Given the description of an element on the screen output the (x, y) to click on. 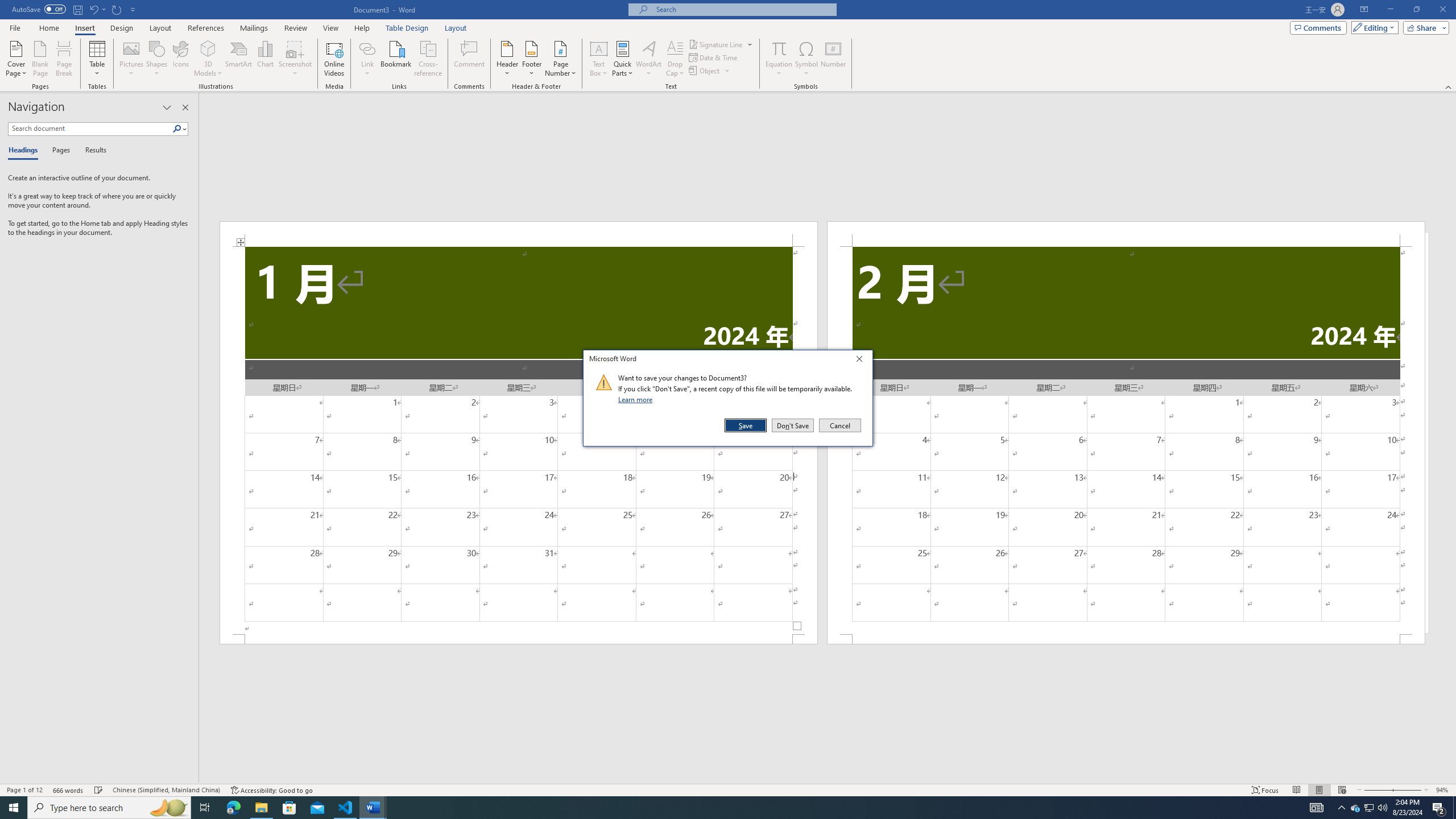
Shapes (156, 58)
Screenshot (295, 58)
